Given the description of an element on the screen output the (x, y) to click on. 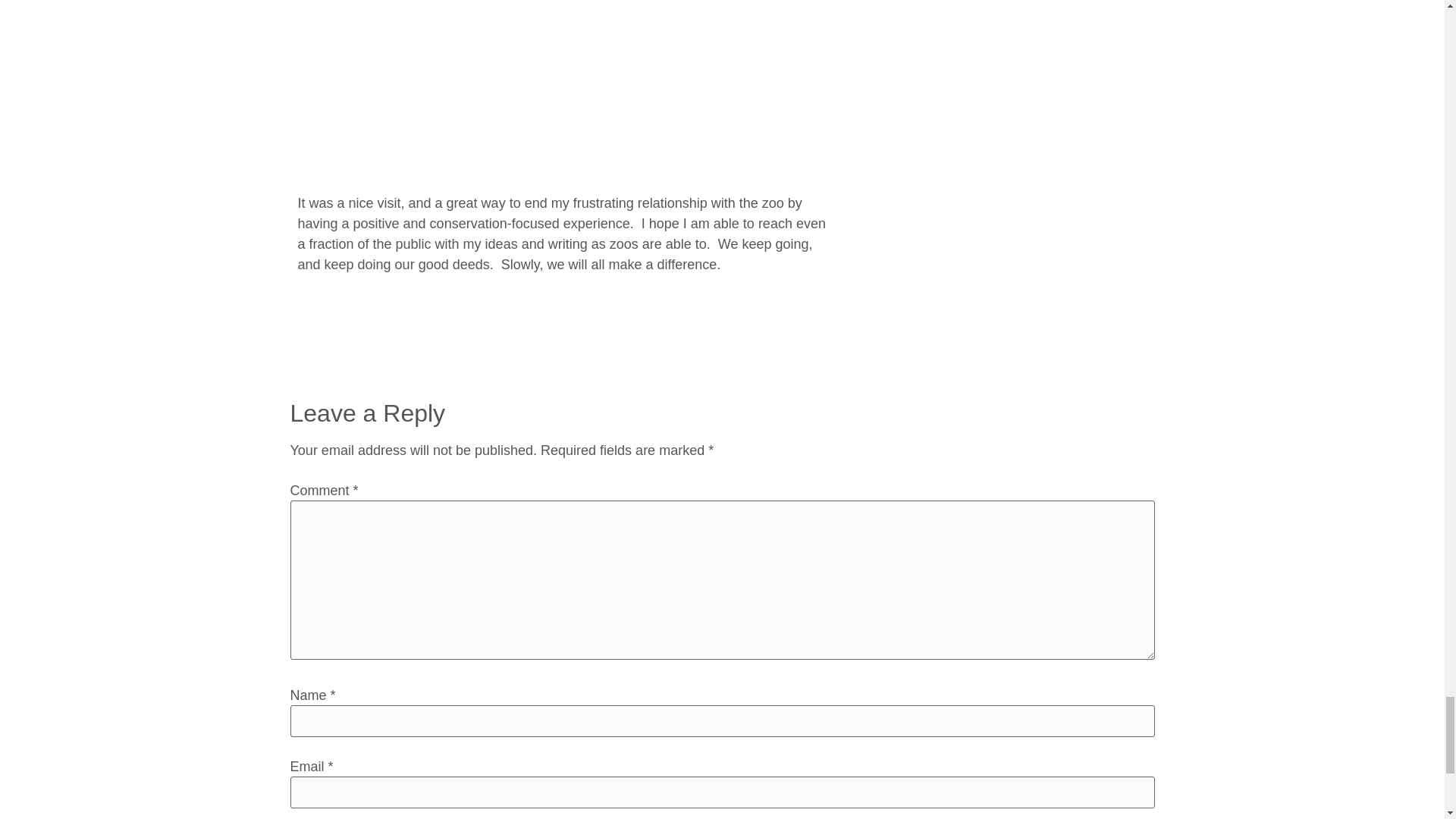
IMG 0410 (565, 84)
